Given the description of an element on the screen output the (x, y) to click on. 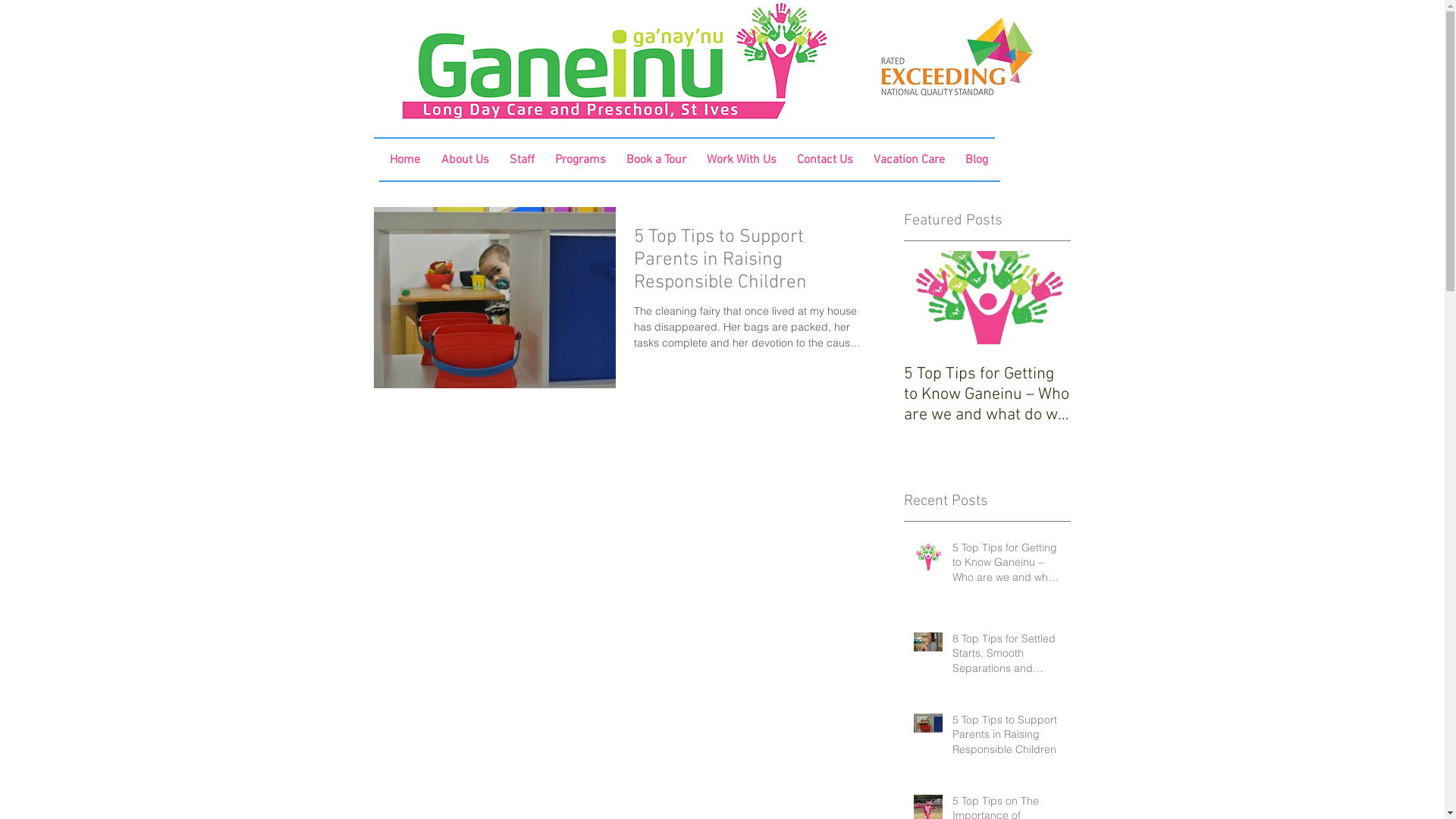
Work With Us Element type: text (741, 160)
Staff Element type: text (522, 160)
Home Element type: text (404, 160)
Vacation Care Element type: text (909, 160)
Programs Element type: text (580, 160)
Ganeinu-Long-Day-Care-and-Preschool-St-Ives-Logo.png Element type: hover (614, 61)
Exceeding 300 RGB_14.jpg Element type: hover (957, 55)
About Us Element type: text (464, 160)
Blog Element type: text (976, 160)
Book a Tour Element type: text (656, 160)
Contact Us Element type: text (824, 160)
